Given the description of an element on the screen output the (x, y) to click on. 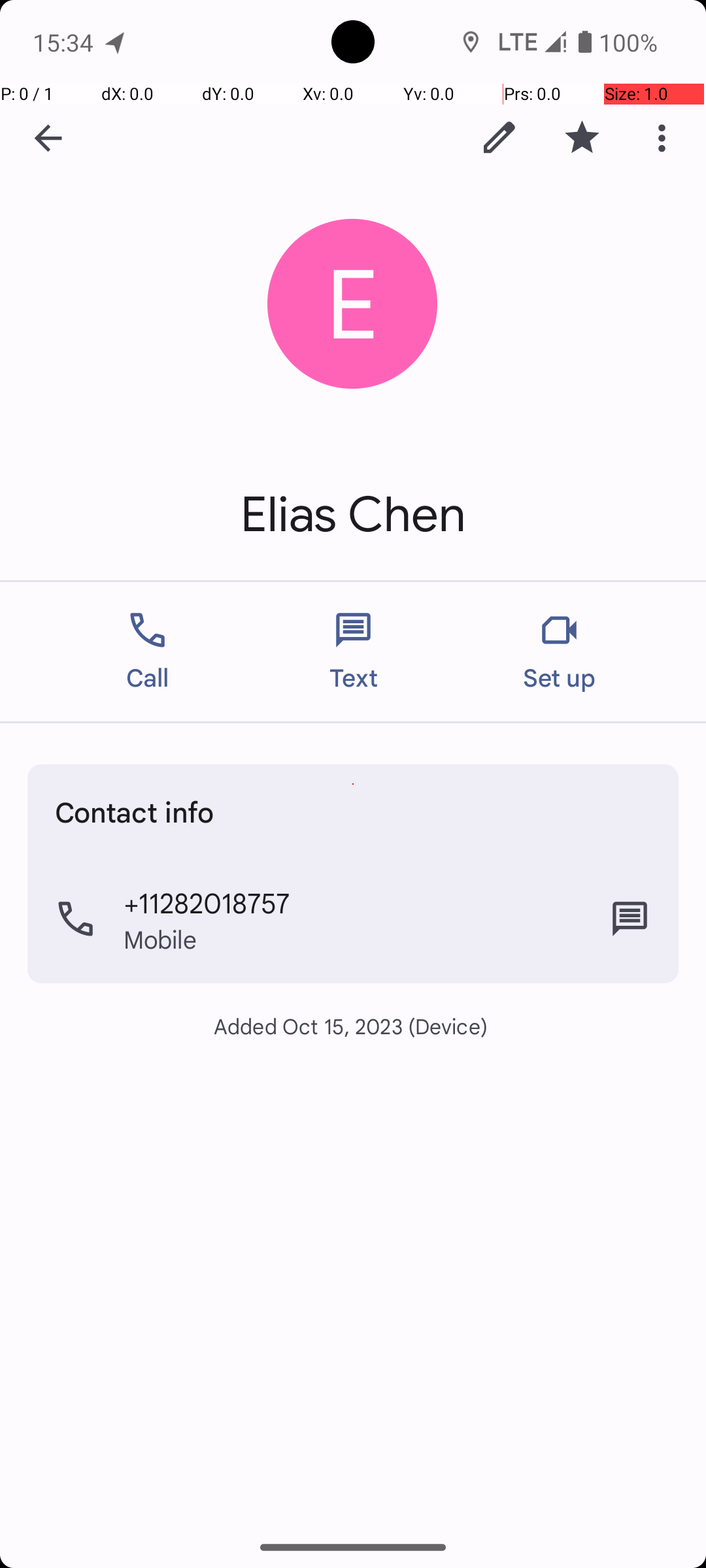
Contact photo Element type: android.widget.ImageView (352, 303)
Set up Element type: android.widget.TextView (559, 651)
Elias Chen Element type: android.widget.TextView (352, 514)
Call Mobile +11282018757 Element type: android.widget.RelativeLayout (352, 919)
Added Oct 15, 2023 (Device)  Element type: android.widget.TextView (352, 1025)
+11282018757 Element type: android.widget.TextView (206, 901)
Text Mobile +11282018757 Element type: android.widget.Button (629, 919)
